Given the description of an element on the screen output the (x, y) to click on. 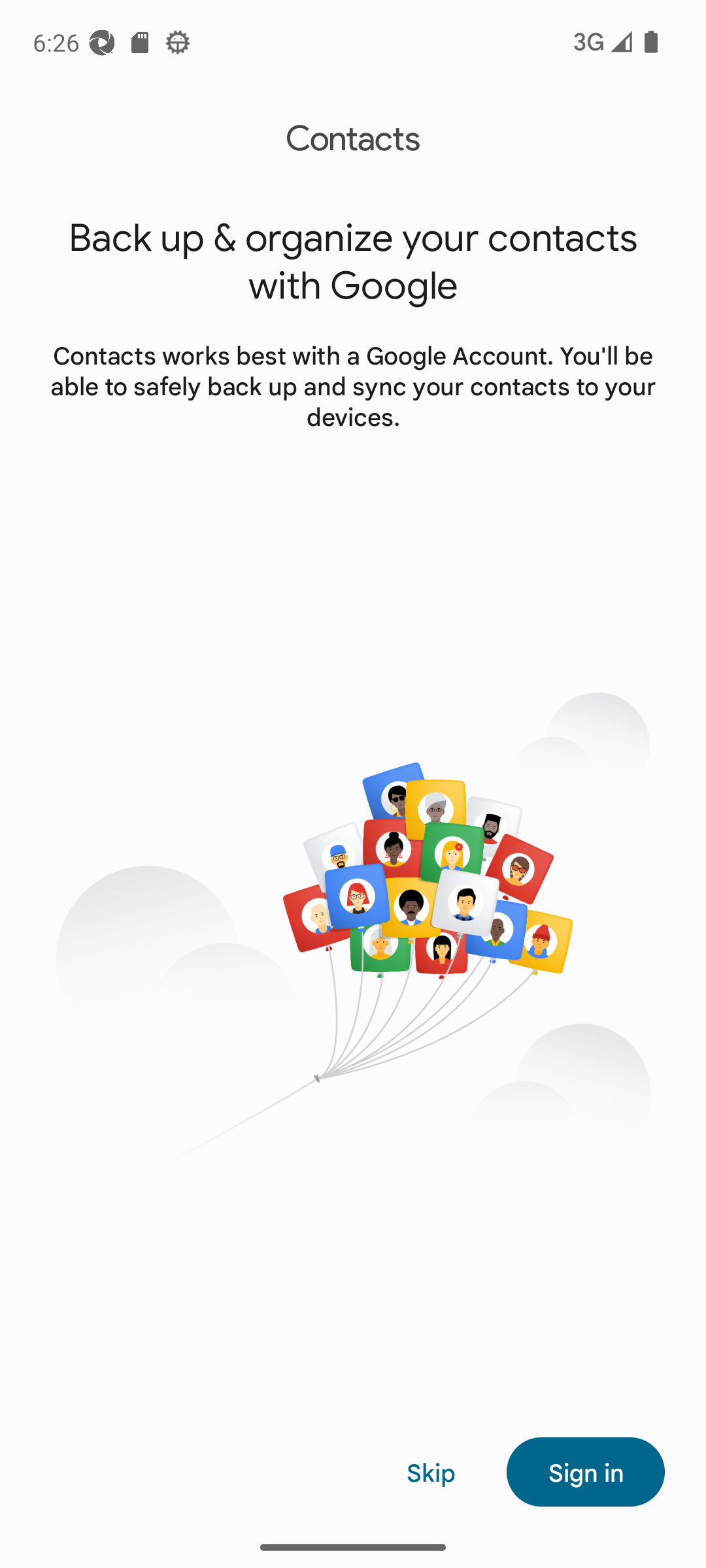
Skip (430, 1471)
Sign in (585, 1471)
